Given the description of an element on the screen output the (x, y) to click on. 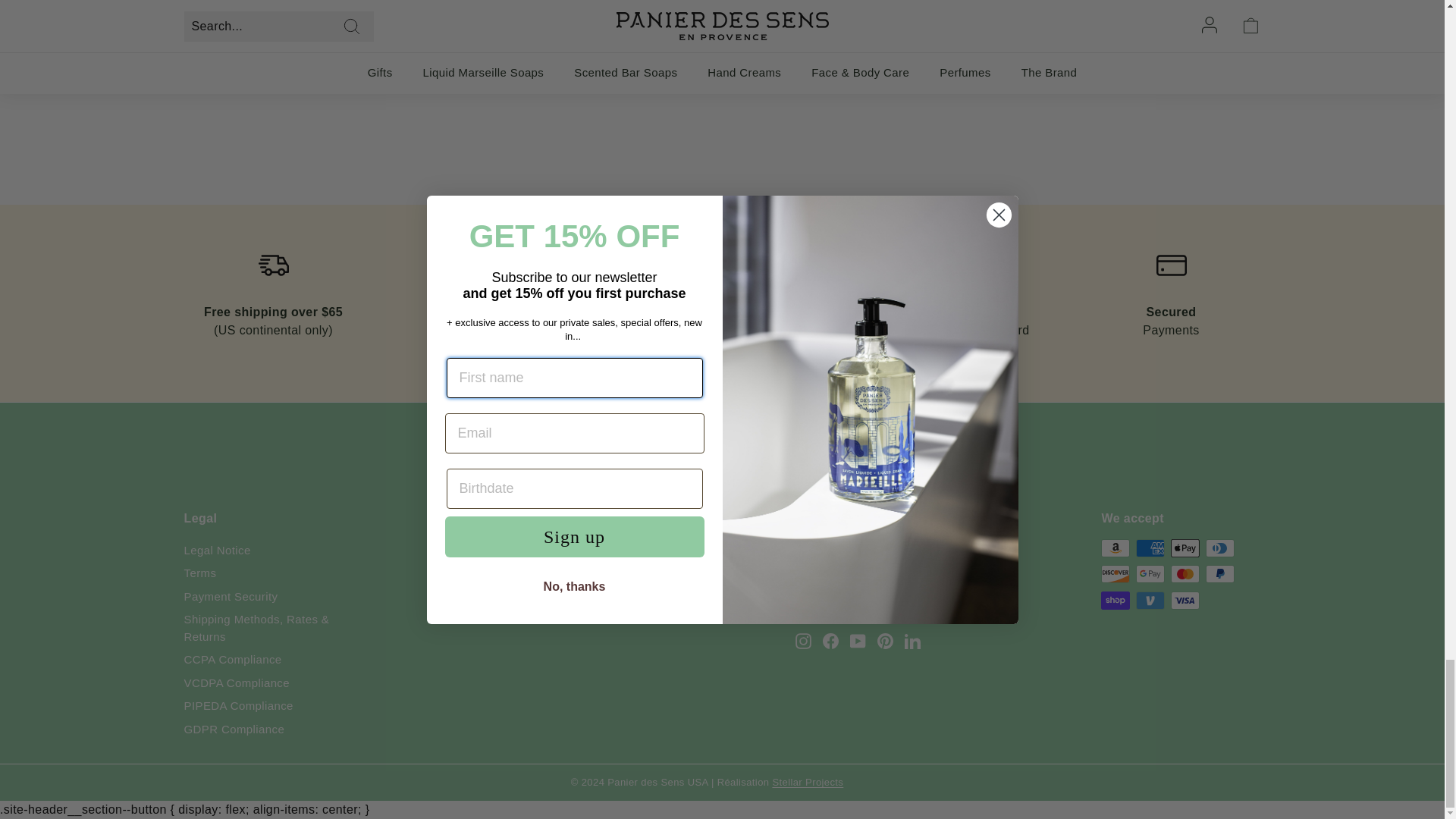
Panier des Sens USA on LinkedIn (912, 640)
Panier des Sens USA on Facebook (830, 640)
Panier des Sens USA on YouTube (858, 640)
Panier des Sens USA on Pinterest (885, 640)
agence Shopify (815, 782)
Panier des Sens USA on Instagram (802, 640)
